Given the description of an element on the screen output the (x, y) to click on. 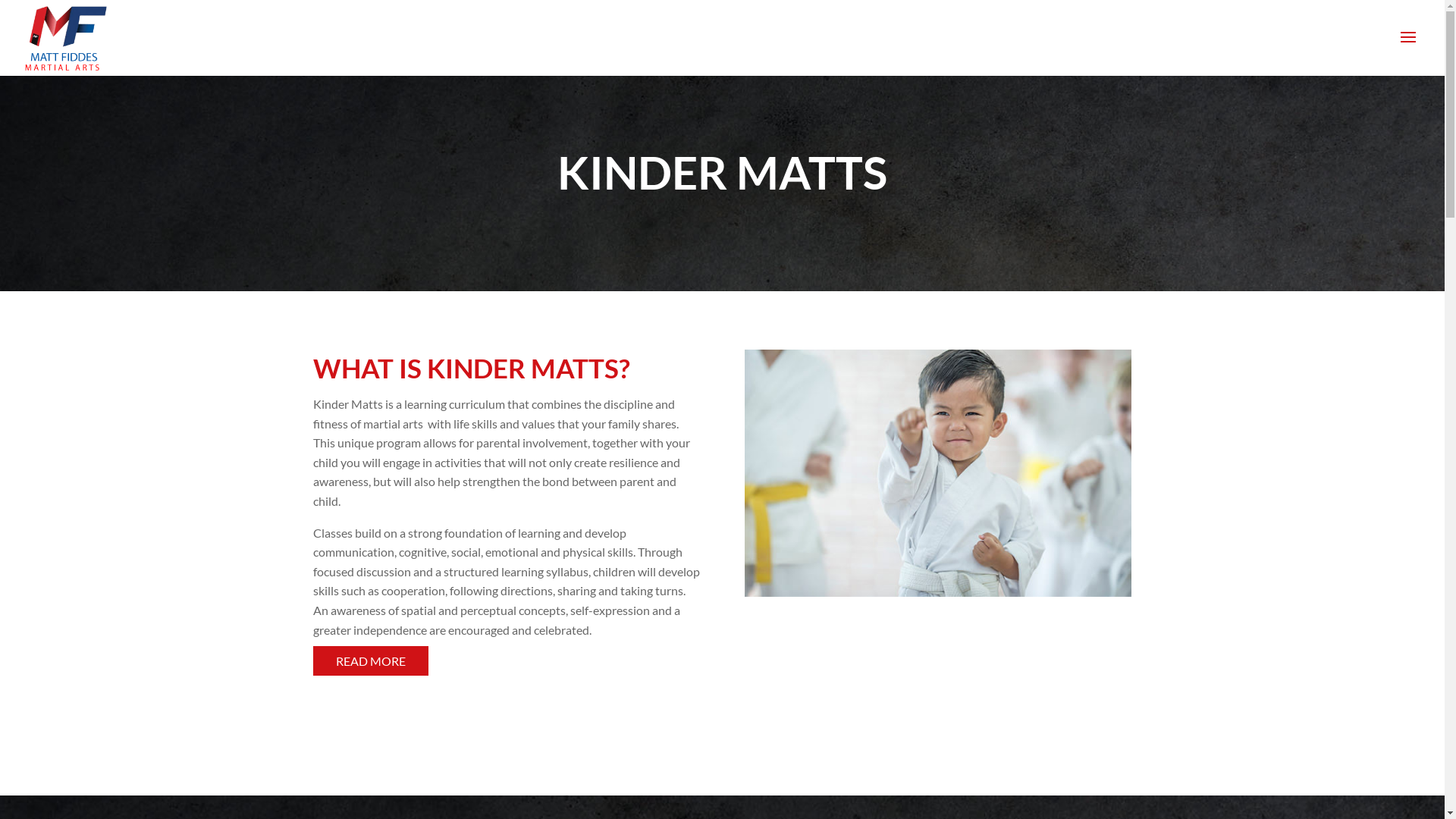
READ MORE Element type: text (369, 660)
